Given the description of an element on the screen output the (x, y) to click on. 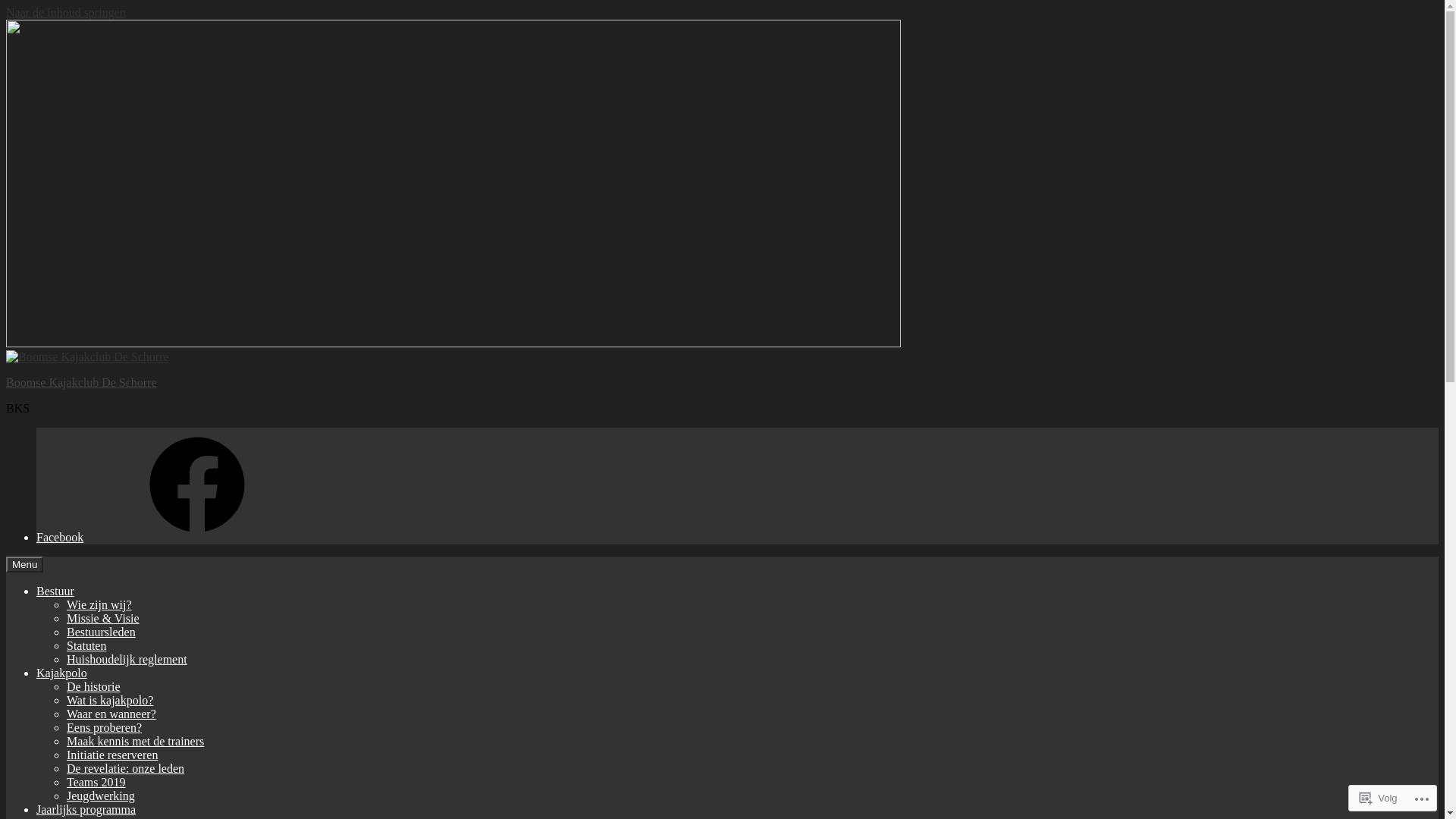
Waar en wanneer? Element type: text (111, 713)
Wat is kajakpolo? Element type: text (109, 699)
Boomse Kajakclub De Schorre Element type: text (81, 382)
De historie Element type: text (93, 686)
Statuten Element type: text (86, 645)
Facebook Element type: text (173, 536)
Huishoudelijk reglement Element type: text (126, 658)
Jeugdwerking Element type: text (100, 795)
Menu Element type: text (24, 564)
Wie zijn wij? Element type: text (98, 604)
Teams 2019 Element type: text (95, 781)
Maak kennis met de trainers Element type: text (134, 740)
Bestuursleden Element type: text (100, 631)
Bestuur Element type: text (55, 590)
Naar de inhoud springen Element type: text (65, 12)
Eens proberen? Element type: text (103, 727)
De revelatie: onze leden Element type: text (125, 768)
Missie & Visie Element type: text (102, 617)
Kajakpolo Element type: text (61, 672)
Initiatie reserveren Element type: text (111, 754)
Volg Element type: text (1377, 797)
Jaarlijks programma Element type: text (85, 809)
